Given the description of an element on the screen output the (x, y) to click on. 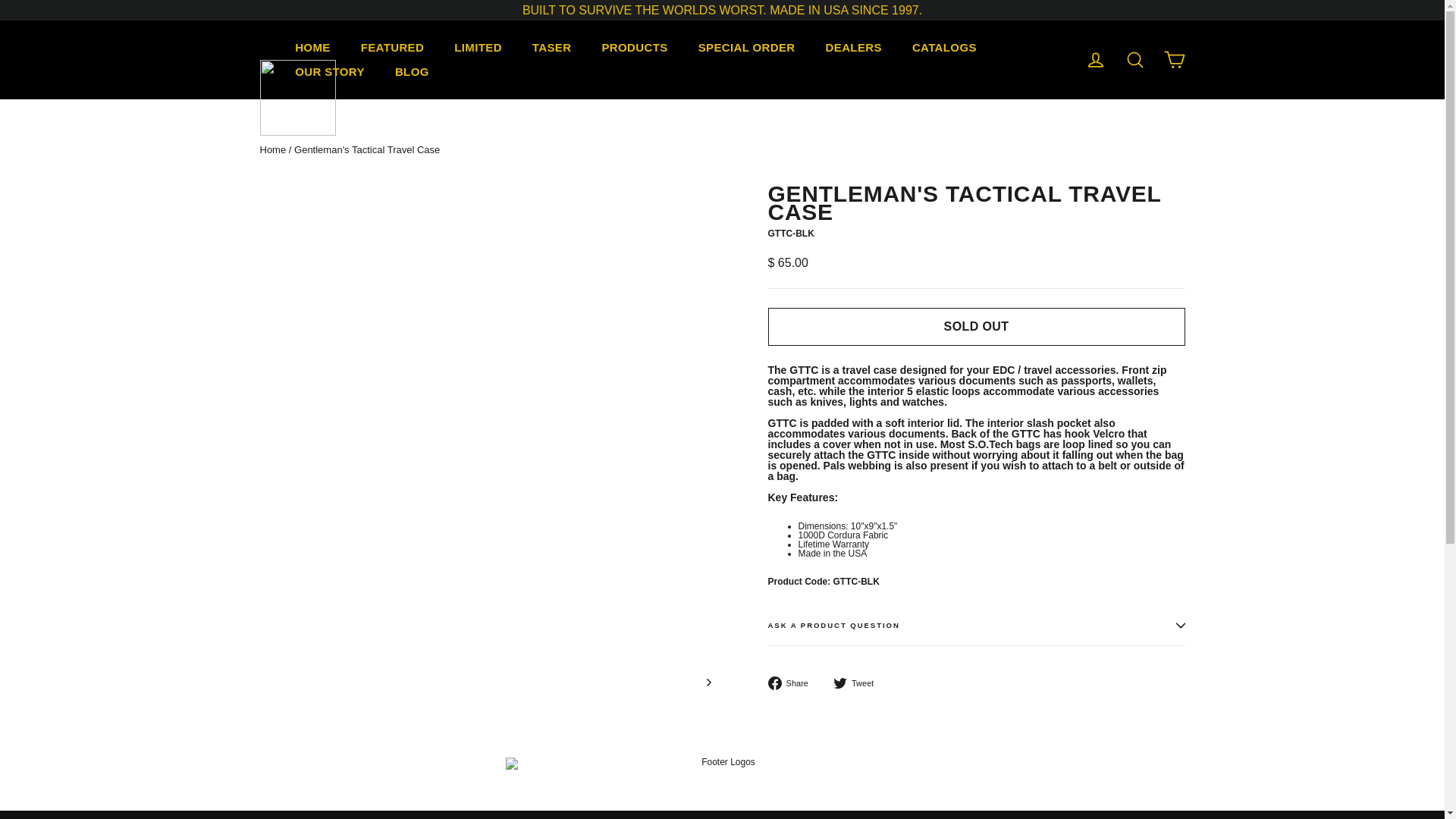
Share on Facebook (792, 683)
Tweet on Twitter (858, 683)
Back to the frontpage (272, 149)
